Given the description of an element on the screen output the (x, y) to click on. 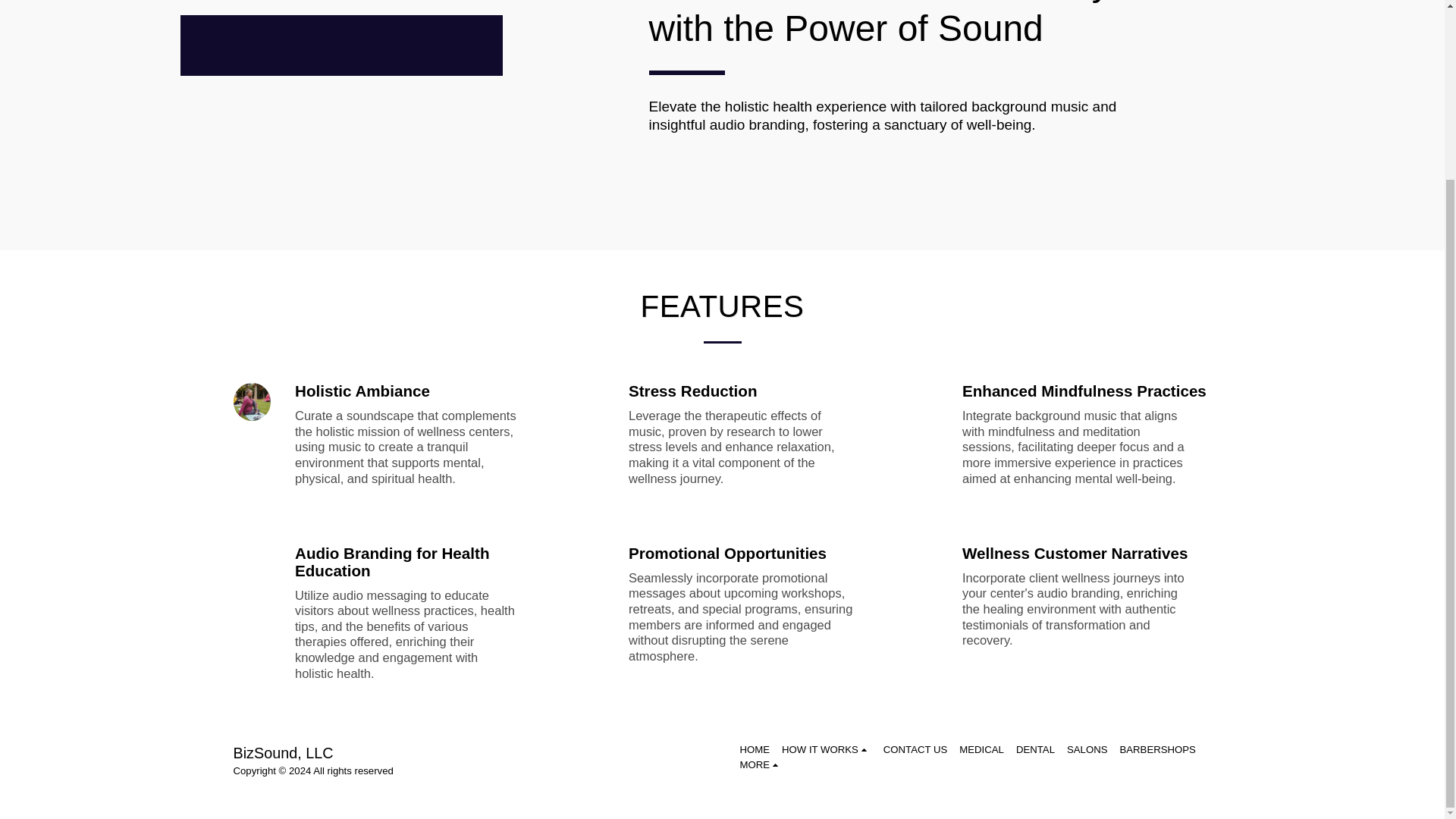
CONTACT US (915, 749)
DENTAL (1035, 749)
SALONS (1087, 749)
MORE   (761, 765)
HOME (754, 749)
MEDICAL (981, 749)
HOW IT WORKS   (825, 749)
BARBERSHOPS (1157, 749)
